Given the description of an element on the screen output the (x, y) to click on. 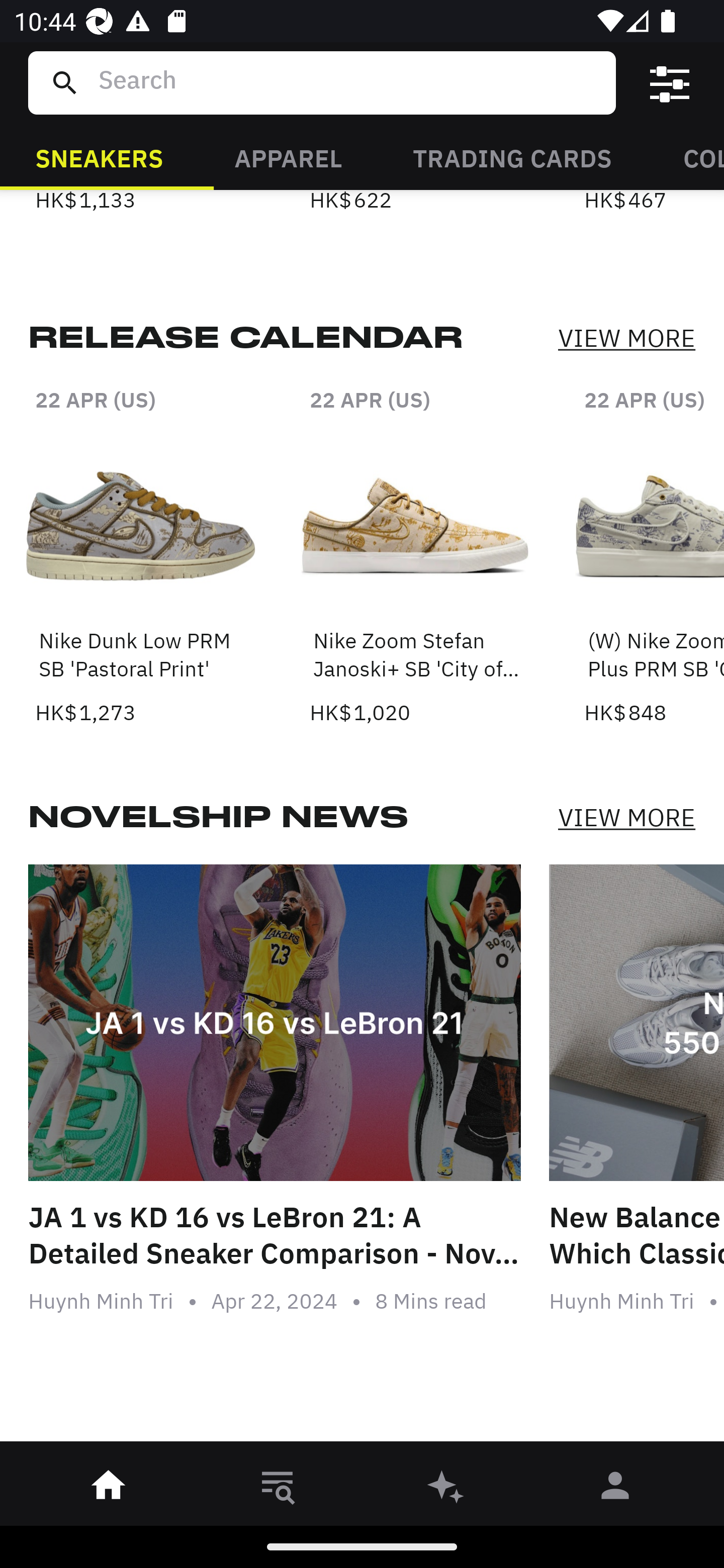
Search (349, 82)
 (669, 82)
SNEAKERS (99, 156)
APPAREL (287, 156)
TRADING CARDS (512, 156)
VIEW MORE (626, 338)
VIEW MORE (626, 816)
󰋜 (108, 1488)
󱎸 (277, 1488)
󰫢 (446, 1488)
󰀄 (615, 1488)
